Given the description of an element on the screen output the (x, y) to click on. 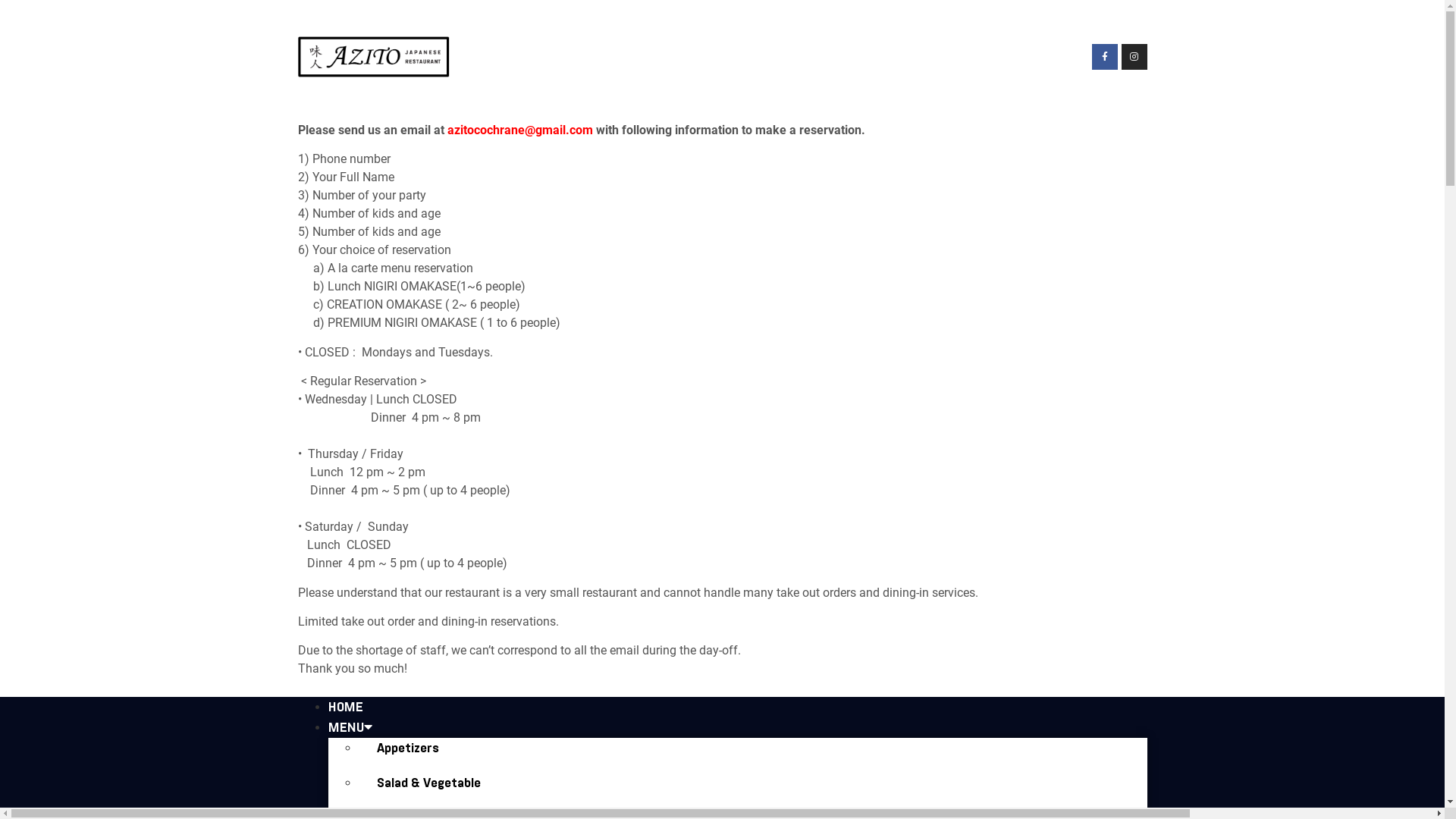
Salad & Vegetable Element type: text (427, 782)
HOME Element type: text (344, 706)
MENU Element type: text (349, 727)
Appetizers Element type: text (406, 747)
